Given the description of an element on the screen output the (x, y) to click on. 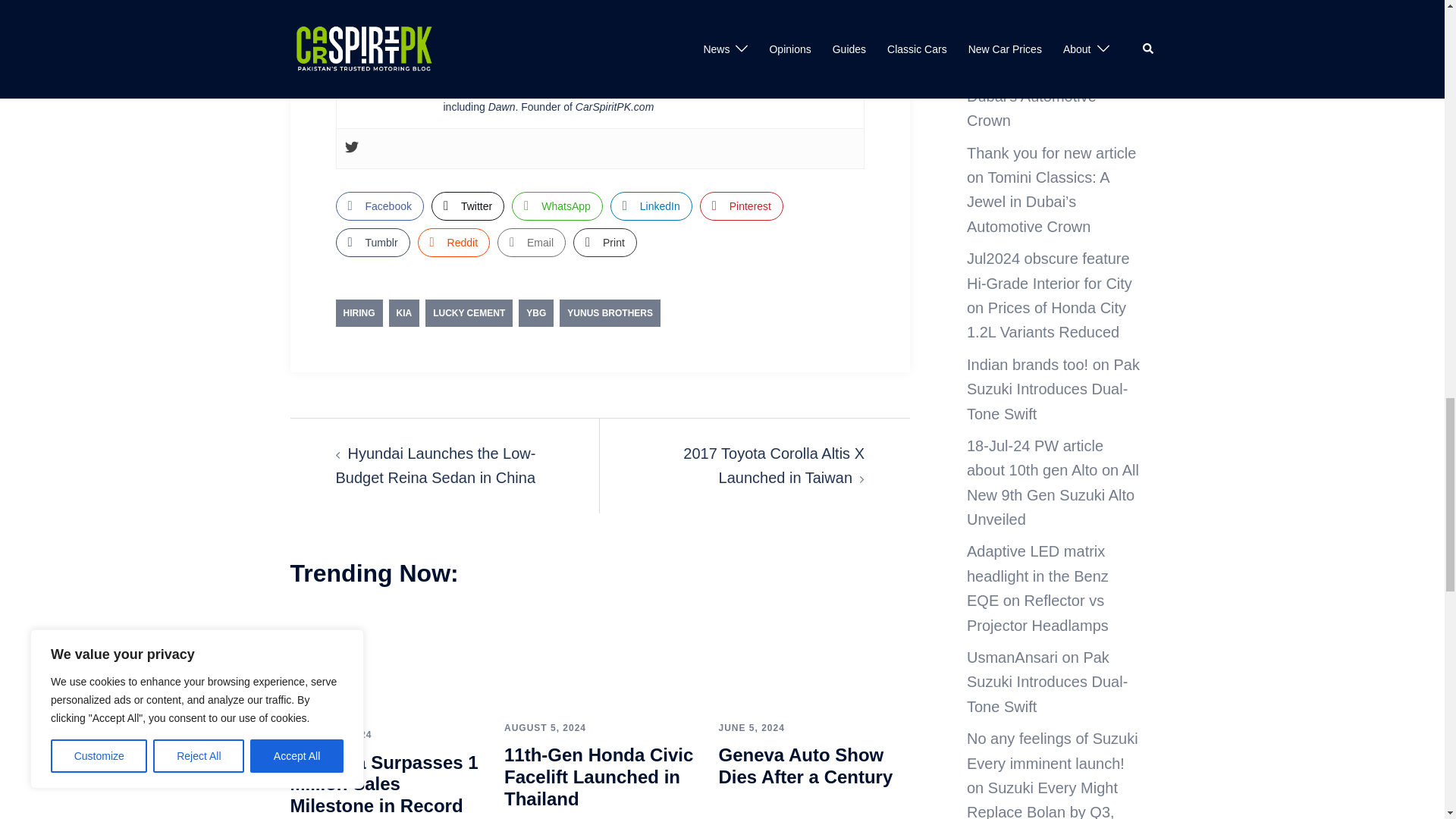
Kia India Surpasses 1 Million Sales Milestone in Record Time (384, 658)
Geneva Auto Show Dies After a Century (812, 655)
11th-Gen Honda Civic Facelift Launched in Thailand (599, 655)
